Given the description of an element on the screen output the (x, y) to click on. 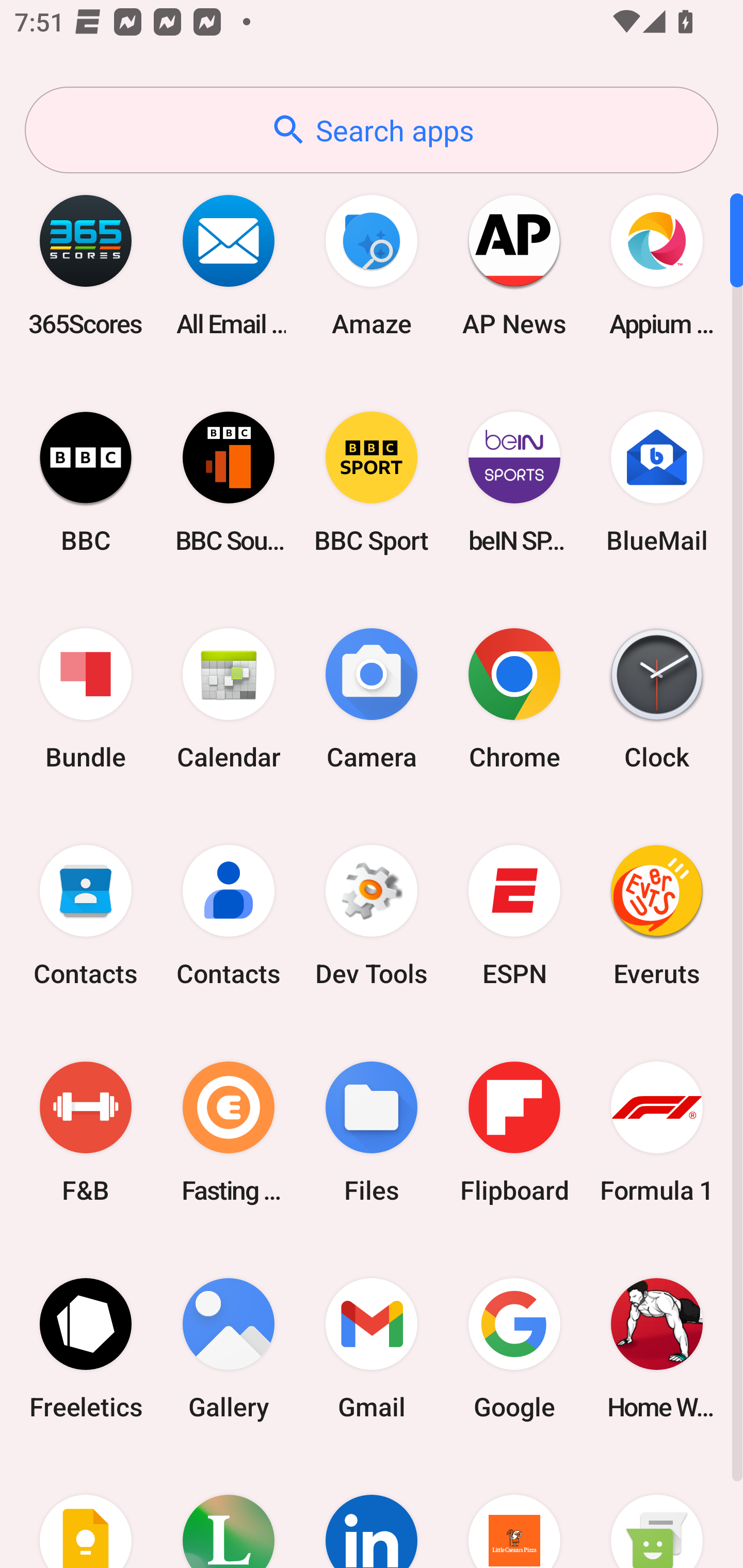
  Search apps (371, 130)
365Scores (85, 264)
All Email Connect (228, 264)
Amaze (371, 264)
AP News (514, 264)
Appium Settings (656, 264)
BBC (85, 482)
BBC Sounds (228, 482)
BBC Sport (371, 482)
beIN SPORTS (514, 482)
BlueMail (656, 482)
Bundle (85, 699)
Calendar (228, 699)
Camera (371, 699)
Chrome (514, 699)
Clock (656, 699)
Contacts (85, 915)
Contacts (228, 915)
Dev Tools (371, 915)
ESPN (514, 915)
Everuts (656, 915)
F&B (85, 1131)
Fasting Coach (228, 1131)
Files (371, 1131)
Flipboard (514, 1131)
Formula 1 (656, 1131)
Freeletics (85, 1348)
Gallery (228, 1348)
Gmail (371, 1348)
Google (514, 1348)
Home Workout (656, 1348)
